Given the description of an element on the screen output the (x, y) to click on. 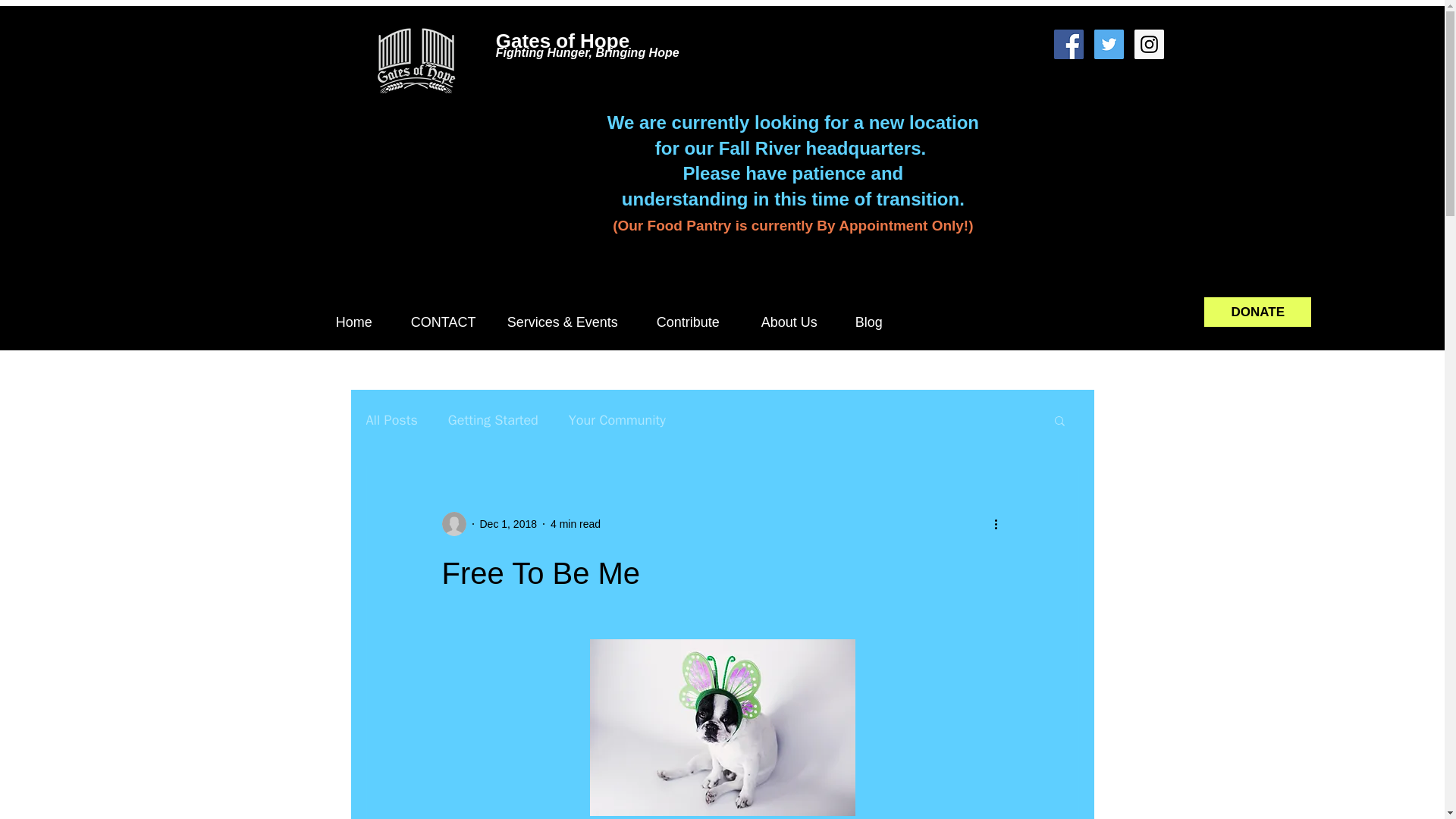
DONATE (1257, 311)
Blog (876, 322)
4 min read (574, 522)
All Posts (390, 420)
Contribute (697, 322)
About Us (796, 322)
Home (361, 322)
Getting Started (493, 420)
Dec 1, 2018 (508, 522)
CONTACT (447, 322)
